Given the description of an element on the screen output the (x, y) to click on. 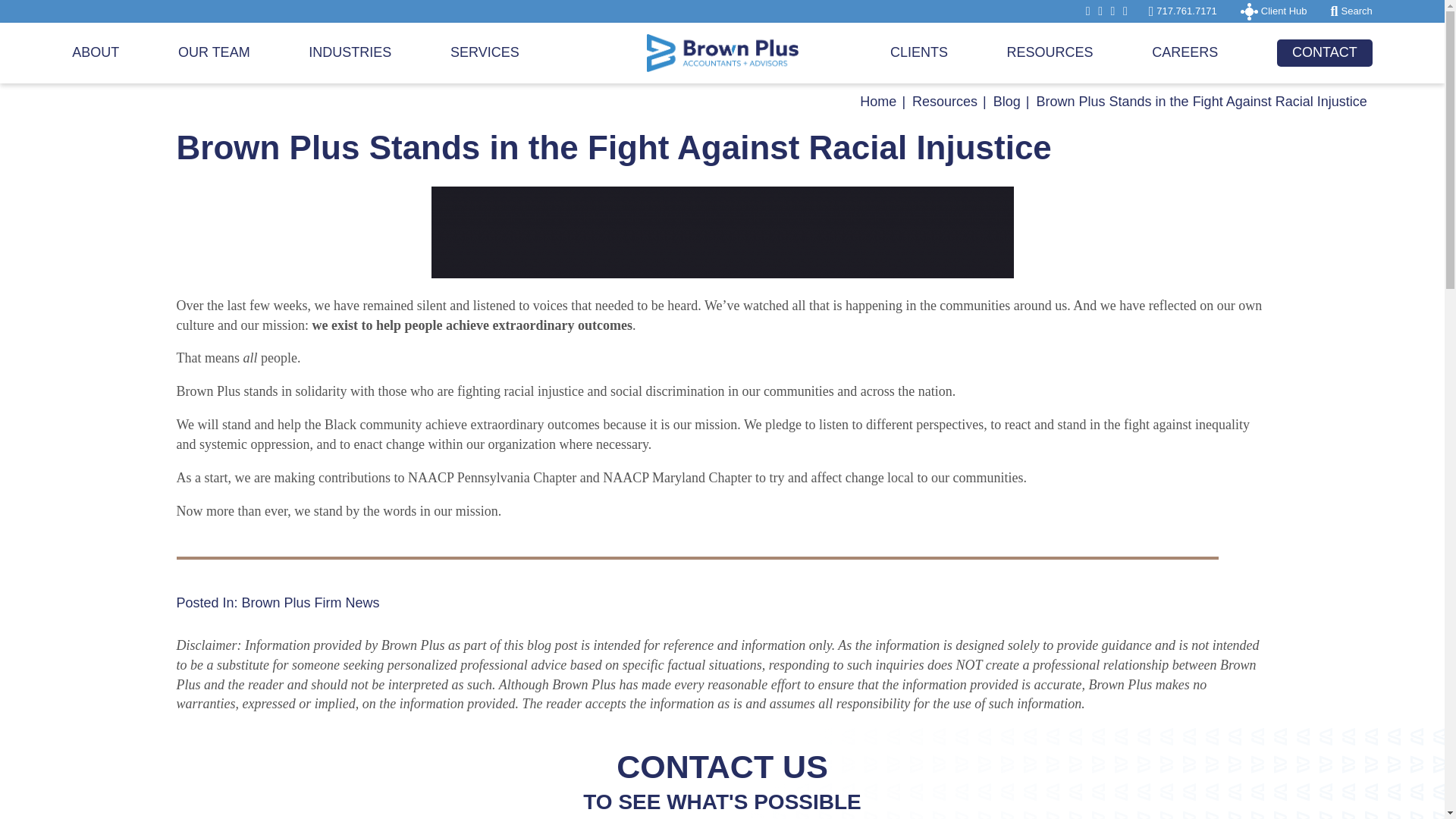
Resources (944, 101)
Home (878, 101)
Search (1351, 11)
Client Hub (1273, 11)
Blog (1006, 101)
717.761.7171 (1182, 11)
